Given the description of an element on the screen output the (x, y) to click on. 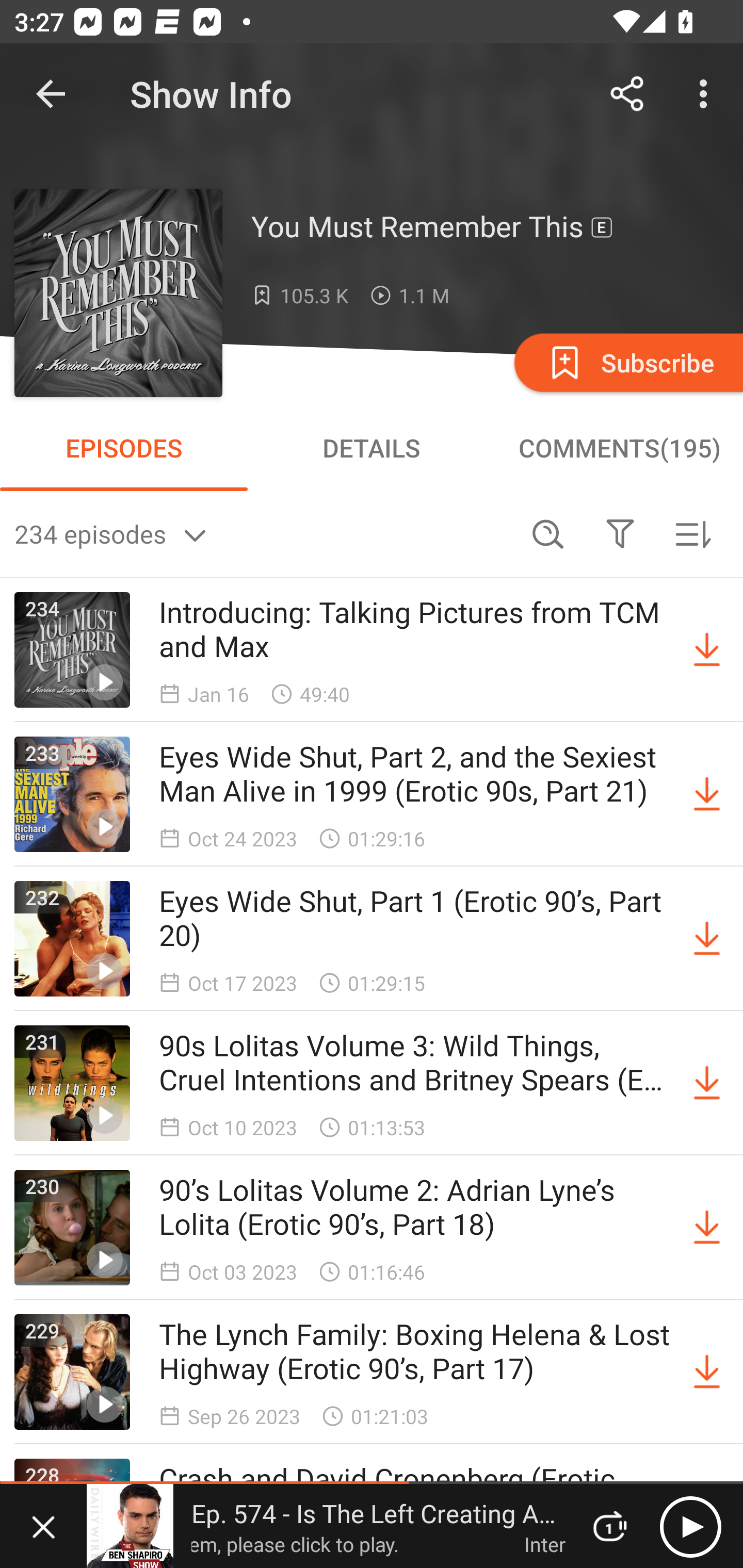
Navigate up (50, 93)
Share (626, 93)
More options (706, 93)
Subscribe (627, 361)
EPISODES (123, 447)
DETAILS (371, 447)
COMMENTS(195) (619, 447)
234 episodes  (262, 533)
 Search (547, 533)
 (619, 533)
 Sorted by newest first (692, 533)
Download (706, 649)
Download (706, 793)
Download (706, 939)
Download (706, 1083)
Download (706, 1227)
Download (706, 1371)
Play (690, 1526)
